Given the description of an element on the screen output the (x, y) to click on. 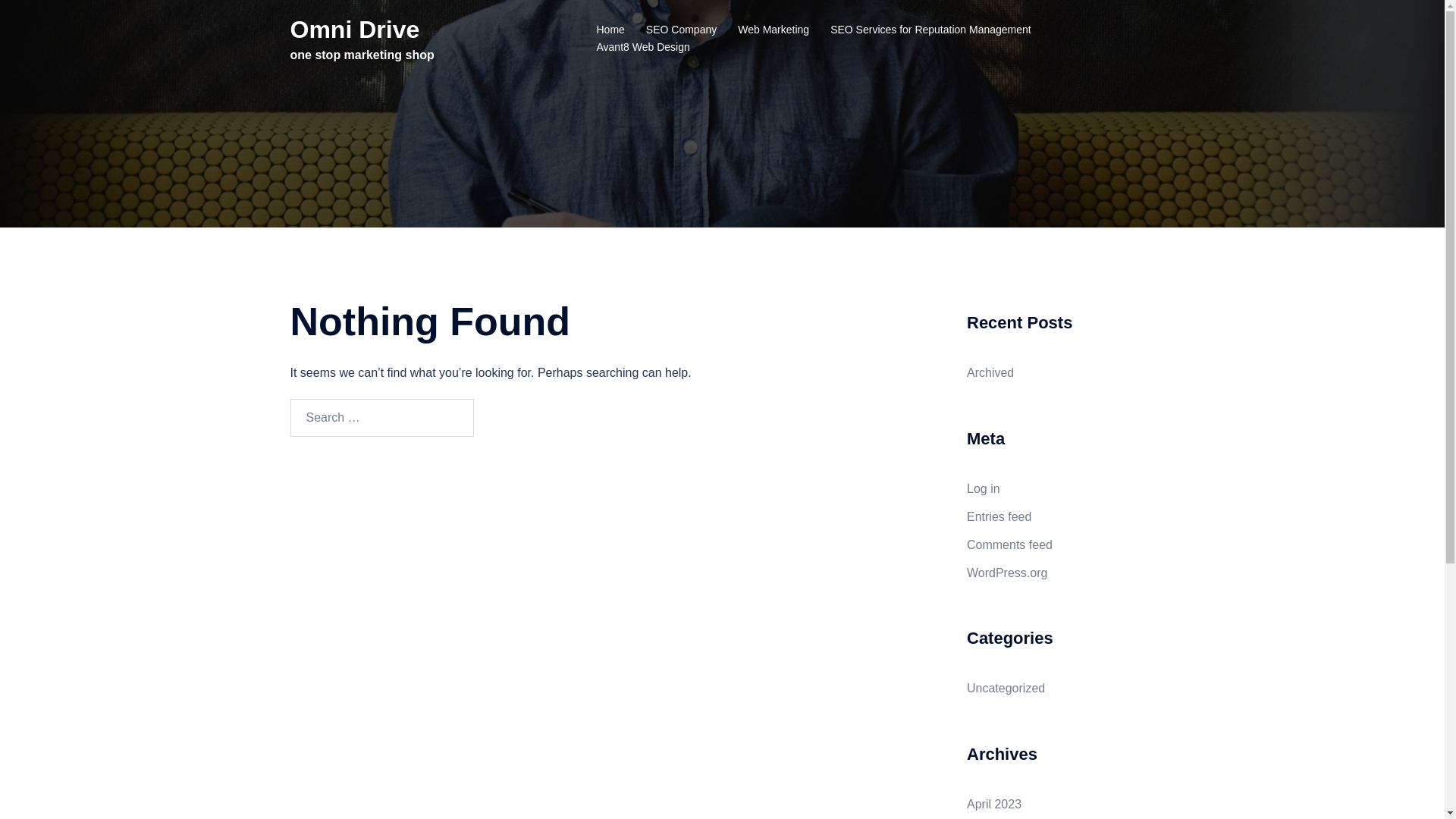
SEO Services for Reputation Management Element type: text (930, 30)
April 2023 Element type: text (993, 803)
Log in Element type: text (983, 488)
Web Marketing Element type: text (773, 30)
Avant8 Web Design Element type: text (642, 47)
SEO Company Element type: text (681, 30)
Search Element type: text (525, 417)
Omni Drive Element type: text (354, 29)
WordPress.org Element type: text (1006, 571)
Uncategorized Element type: text (1005, 687)
Comments feed Element type: text (1009, 544)
Archived Element type: text (989, 372)
Entries feed Element type: text (998, 516)
Home Element type: text (610, 30)
Search Element type: text (49, 18)
